Given the description of an element on the screen output the (x, y) to click on. 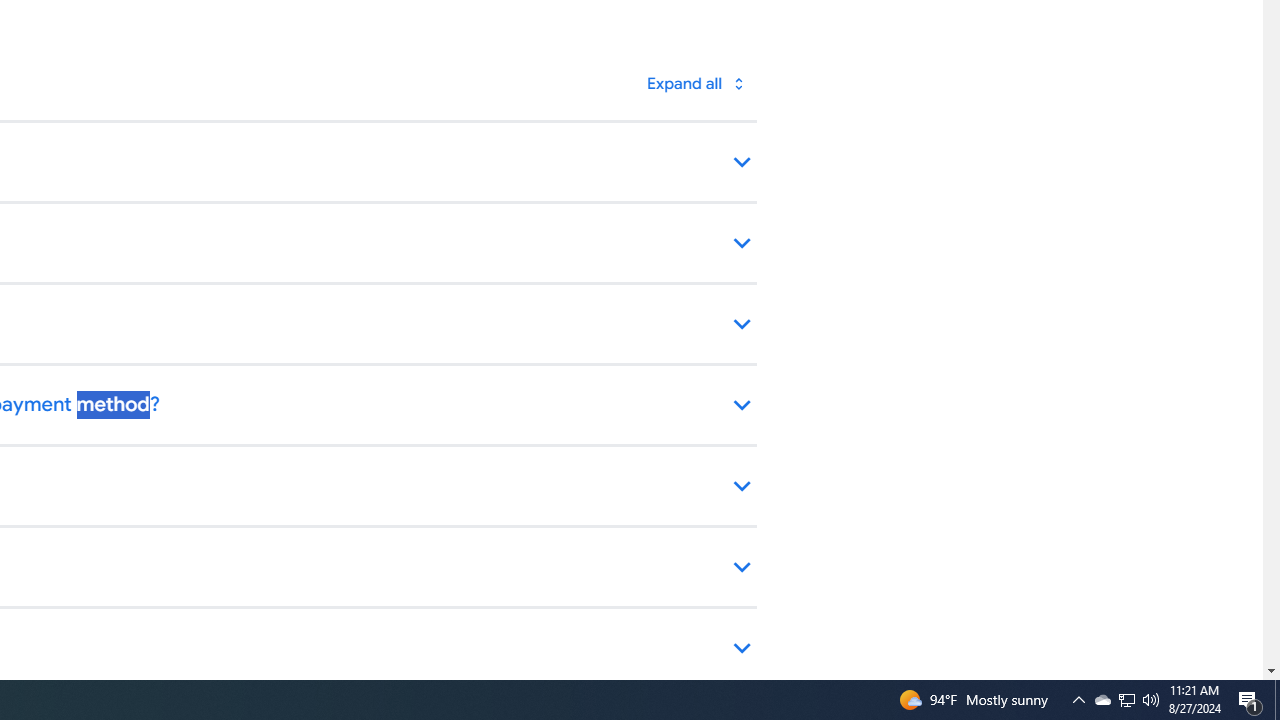
Toggle all (694, 83)
